Given the description of an element on the screen output the (x, y) to click on. 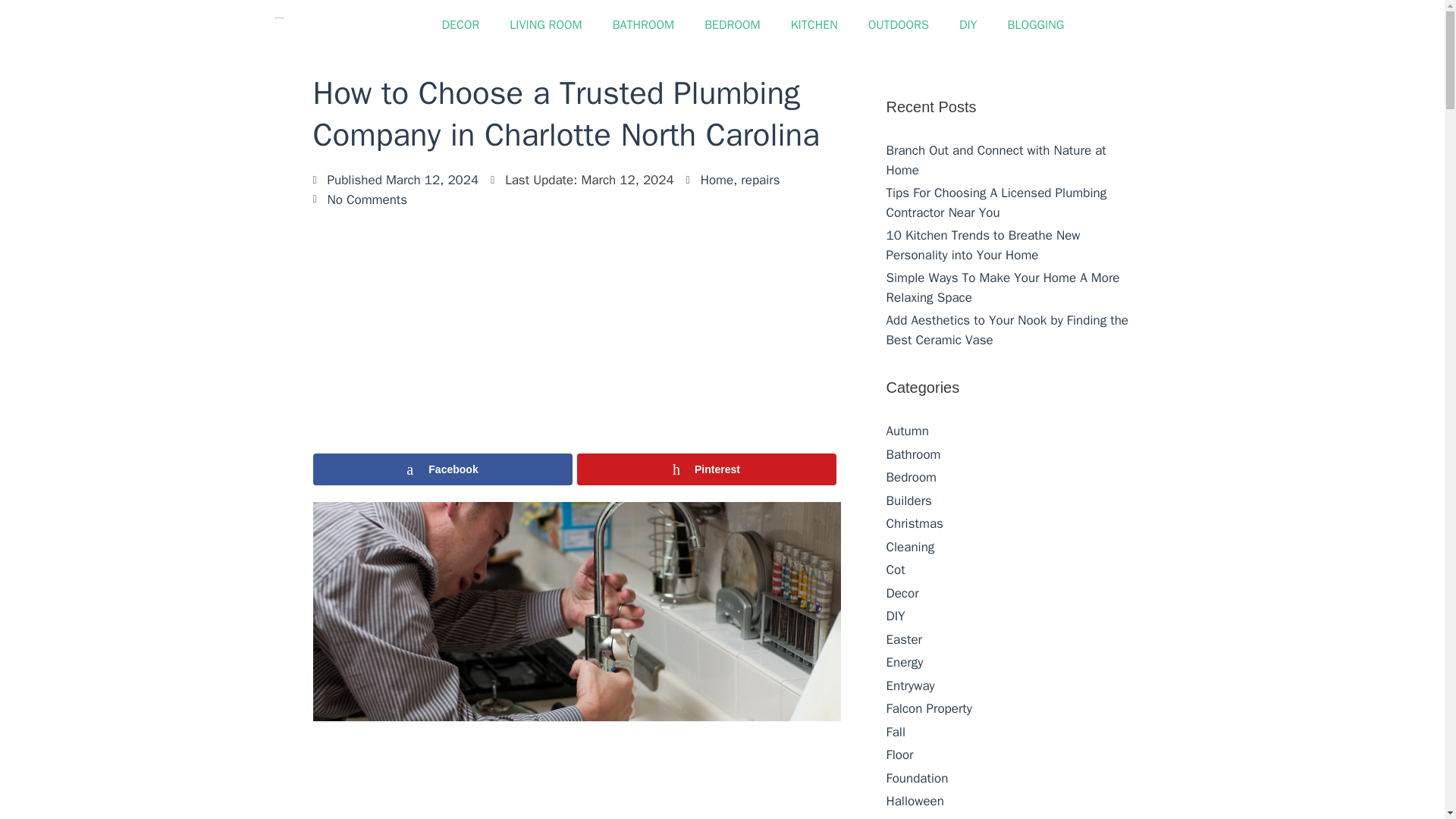
No Comments (360, 199)
DECOR (460, 24)
Published March 12, 2024 (396, 180)
10 Kitchen Trends to Breathe New Personality into Your Home (982, 244)
Home (716, 179)
repairs (759, 179)
Facebook (442, 469)
OUTDOORS (898, 24)
LIVING ROOM (545, 24)
Branch Out and Connect with Nature at Home (995, 160)
DIY (967, 24)
Tips For Choosing A Licensed Plumbing Contractor Near You (995, 202)
BLOGGING (1036, 24)
BEDROOM (732, 24)
KITCHEN (814, 24)
